Given the description of an element on the screen output the (x, y) to click on. 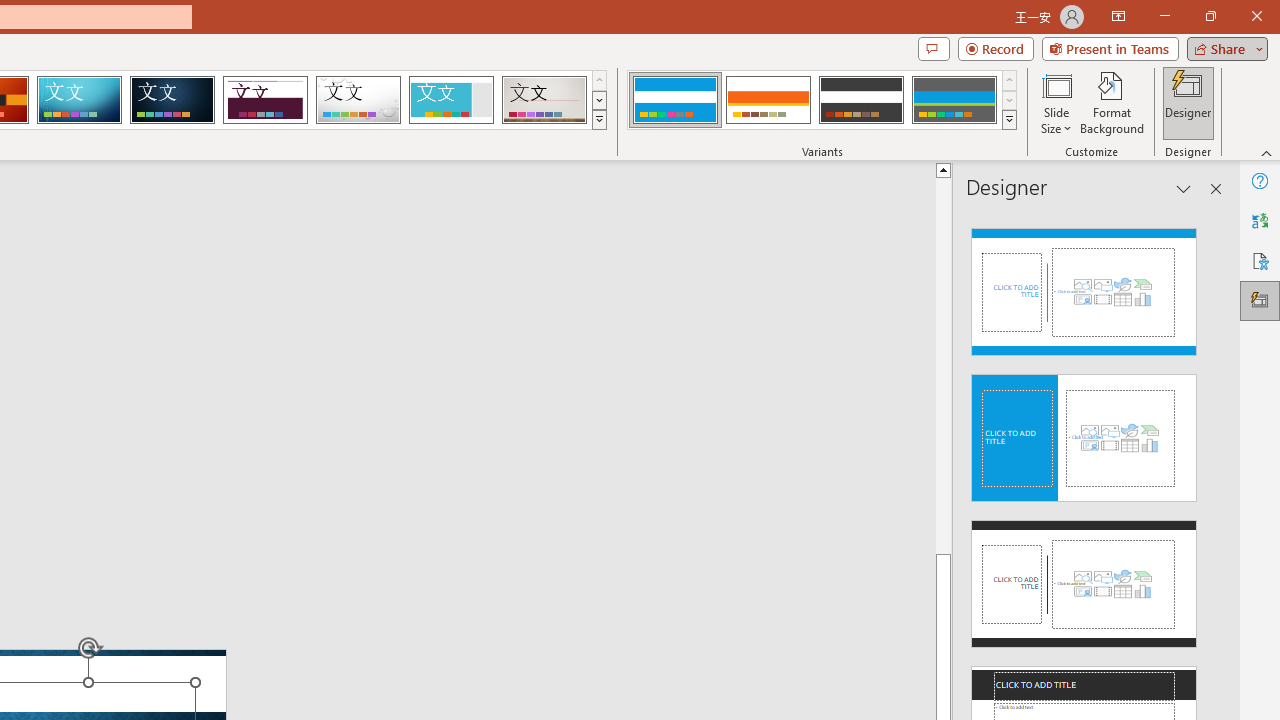
Variants (1009, 120)
Design Idea (1083, 577)
Banded Variant 1 (674, 100)
AutomationID: ThemeVariantsGallery (822, 99)
Slide Size (1056, 102)
